Given the description of an element on the screen output the (x, y) to click on. 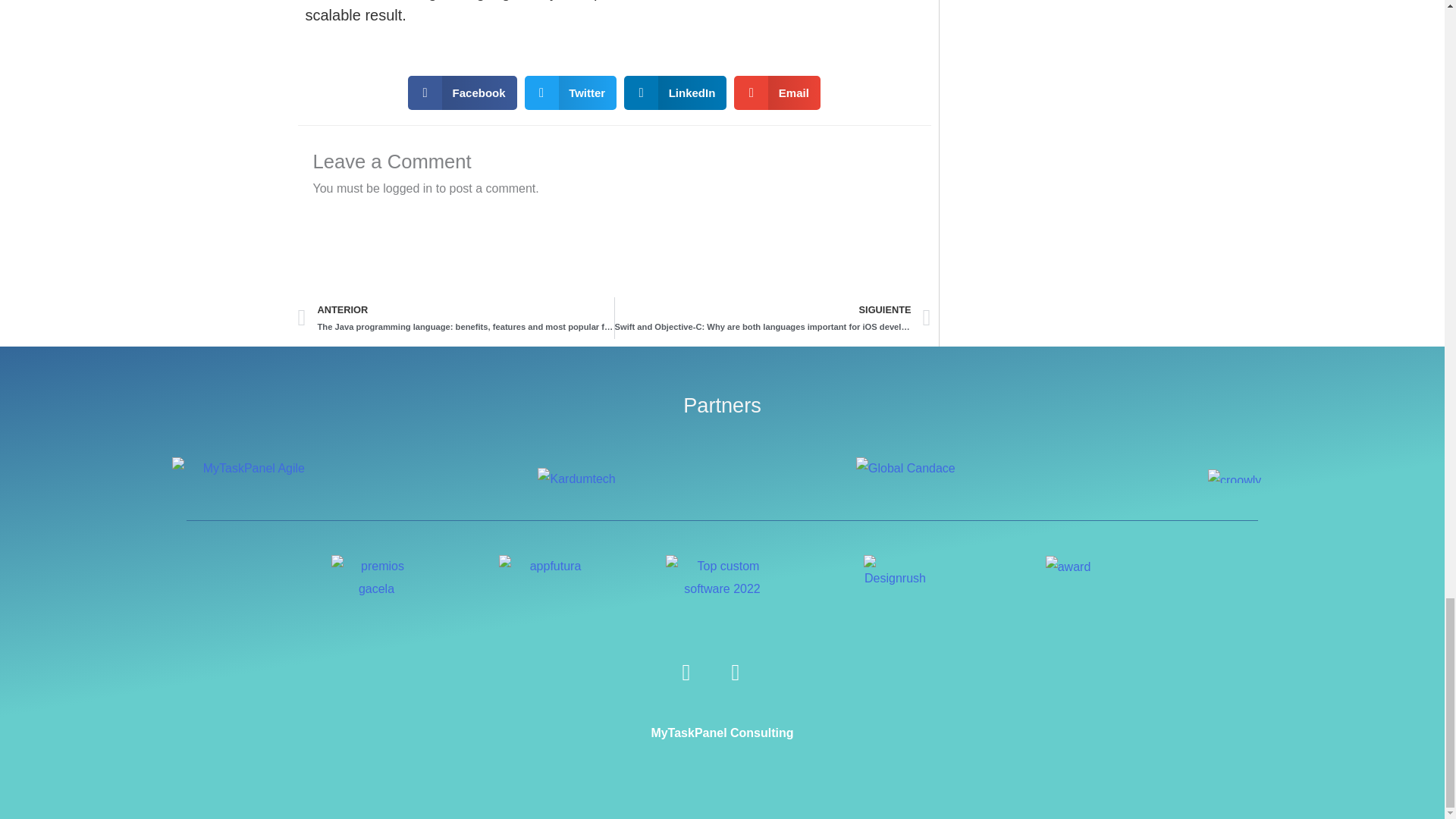
award (1067, 567)
